Given the description of an element on the screen output the (x, y) to click on. 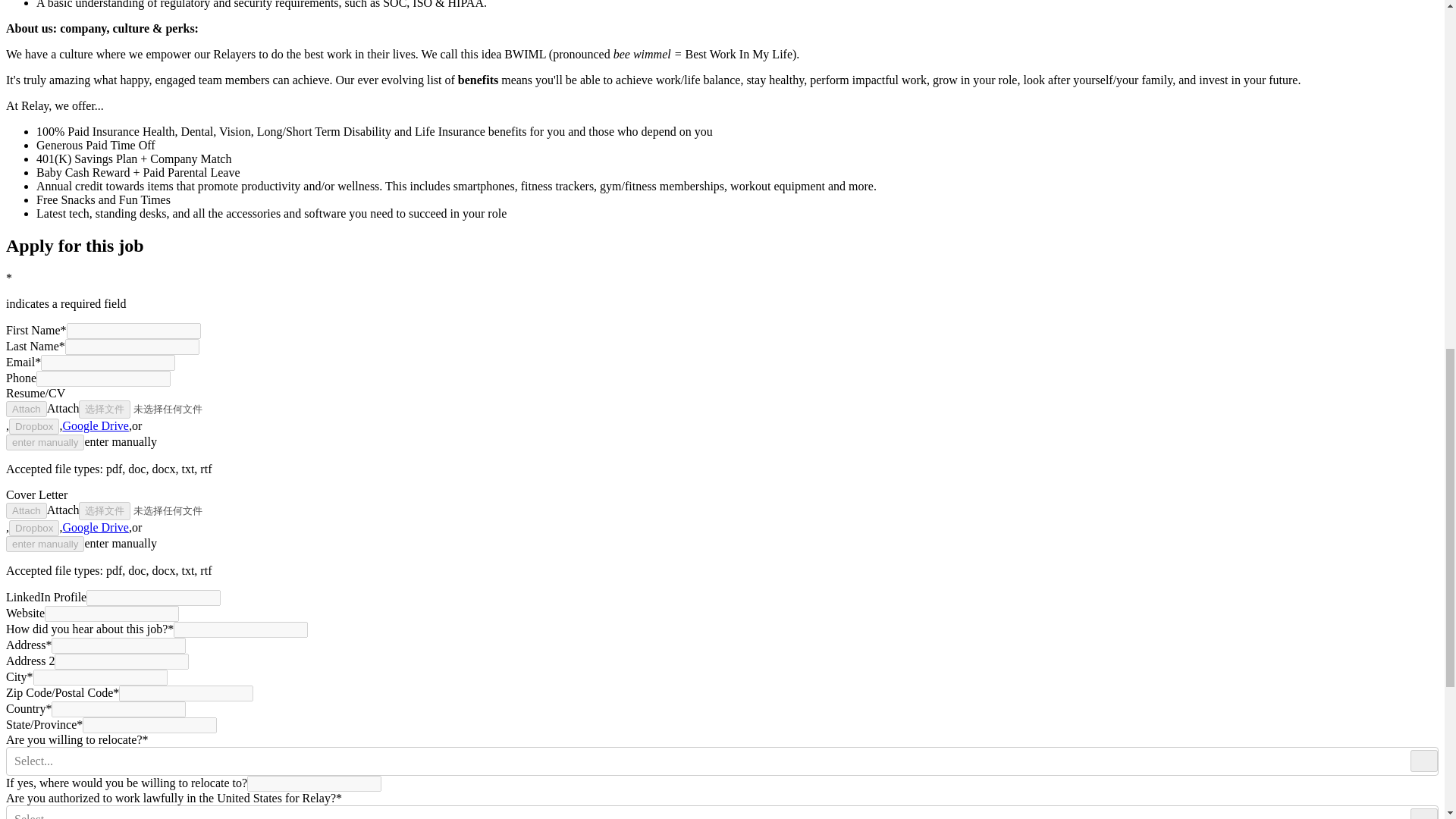
enter manually (44, 544)
Attach (25, 408)
Attach (25, 510)
Google Drive (95, 526)
Dropbox (33, 528)
enter manually (44, 442)
Dropbox (33, 426)
Google Drive (95, 425)
